Given the description of an element on the screen output the (x, y) to click on. 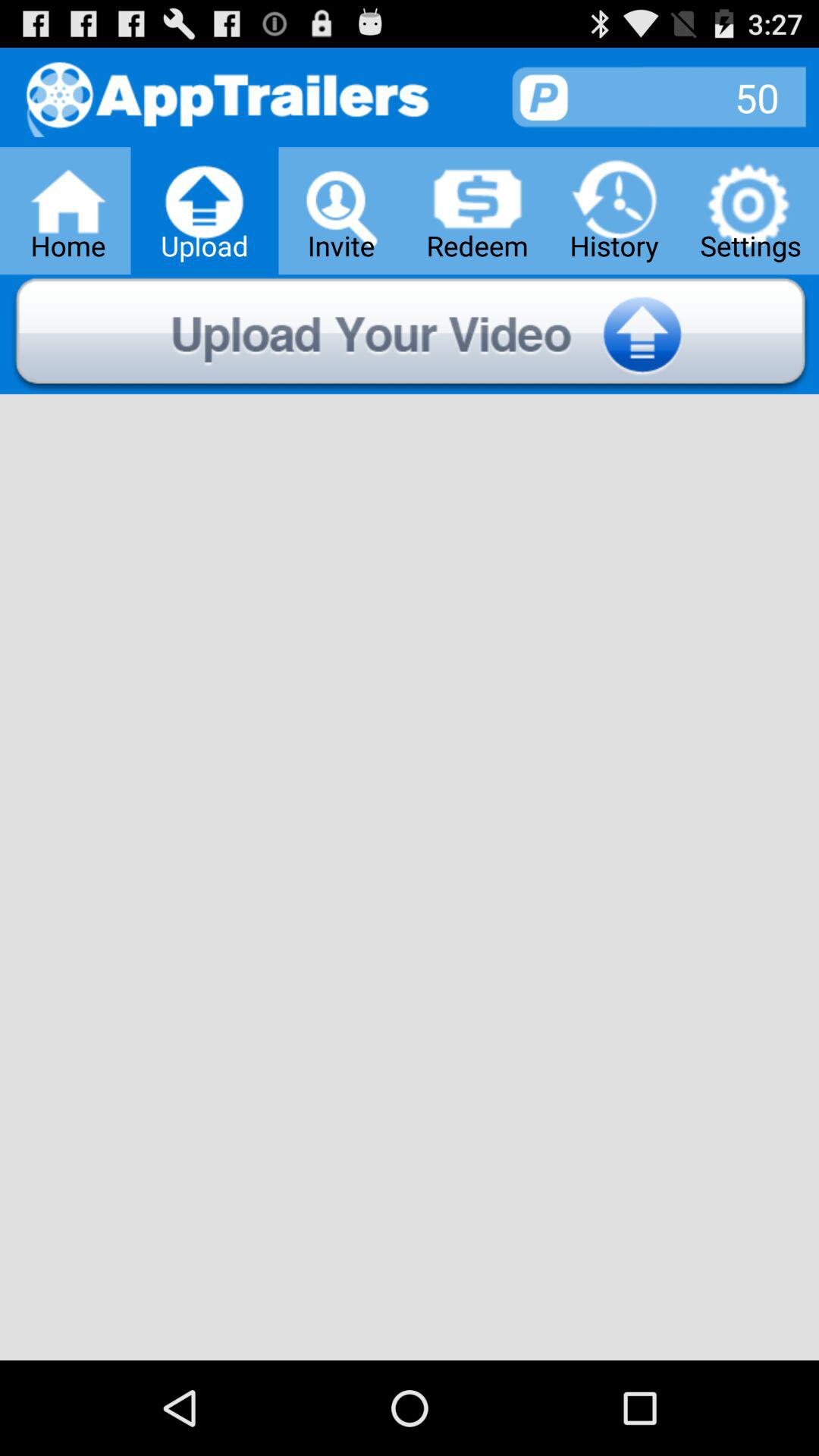
upload video loading (409, 334)
